Given the description of an element on the screen output the (x, y) to click on. 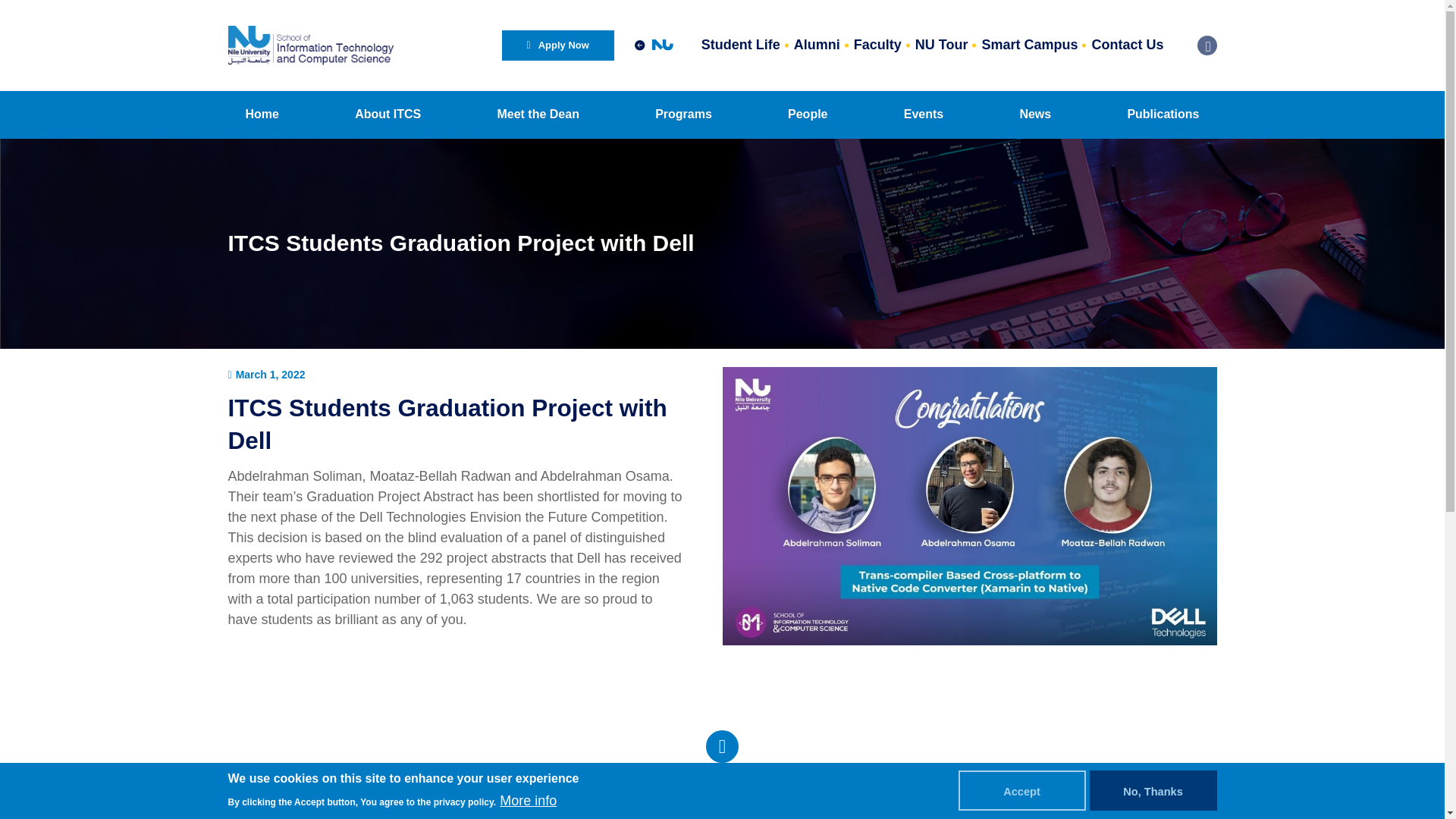
Alumni (817, 45)
News (1034, 114)
Smart Campus (1029, 45)
Apply Now (558, 45)
Faculty (877, 45)
Home (261, 114)
Events (923, 114)
Programs (683, 114)
Meet the Dean (537, 114)
Student Life (740, 45)
About ITCS (387, 114)
Main site (654, 44)
People (807, 114)
Contact Us (1127, 45)
NU Tour (941, 45)
